Given the description of an element on the screen output the (x, y) to click on. 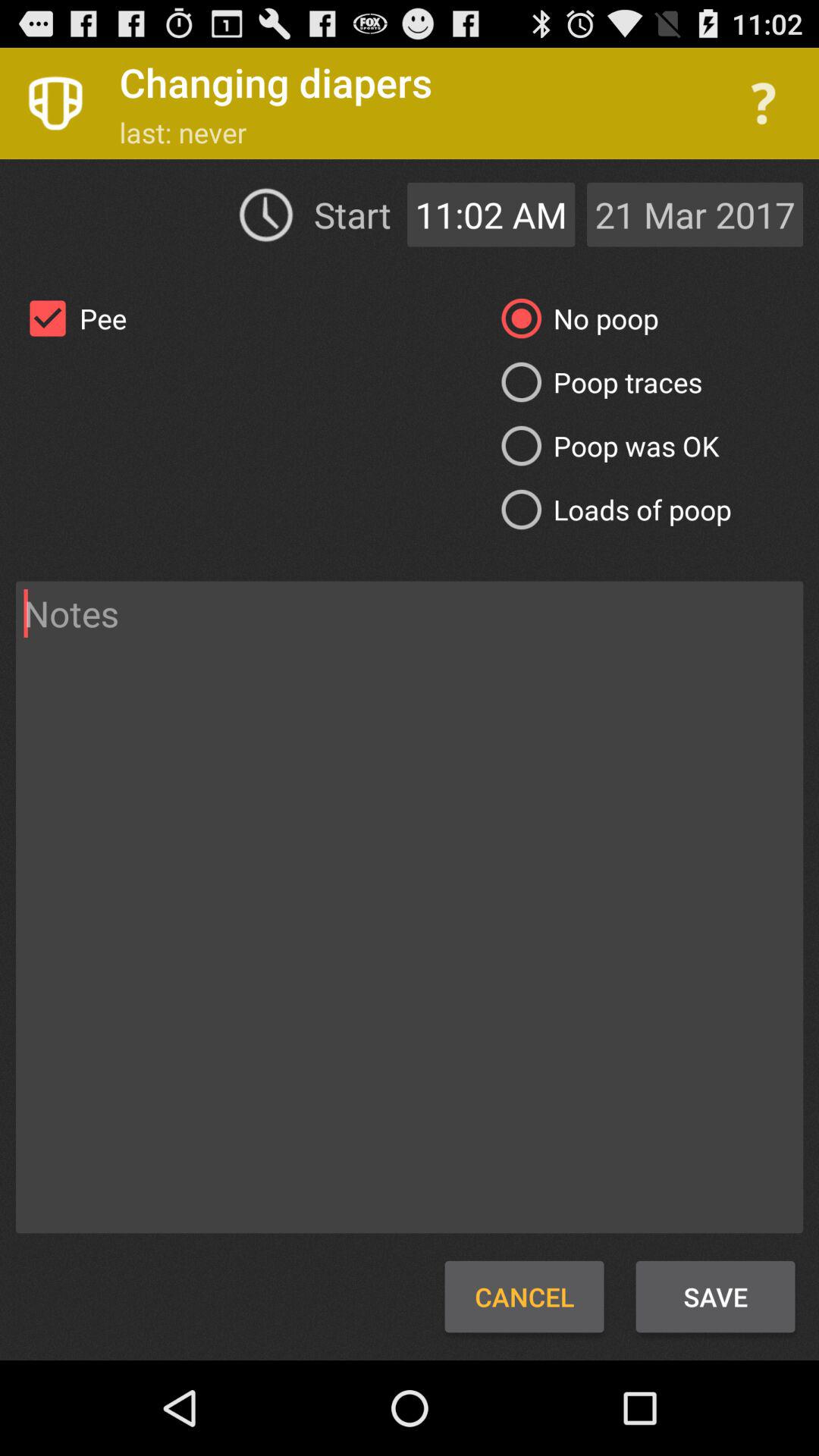
click for help (763, 103)
